Given the description of an element on the screen output the (x, y) to click on. 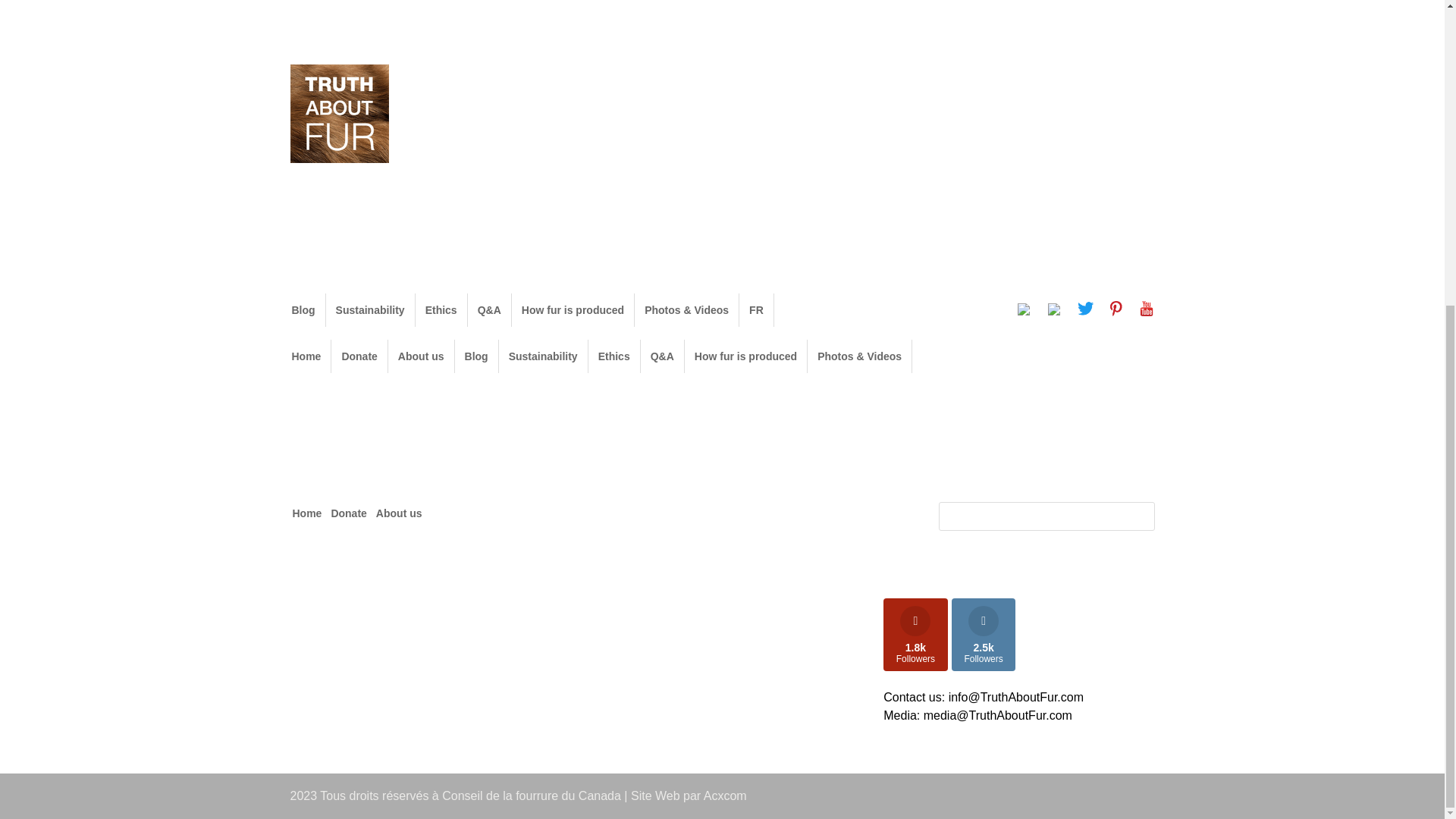
Donate (348, 35)
Home (306, 35)
